Given the description of an element on the screen output the (x, y) to click on. 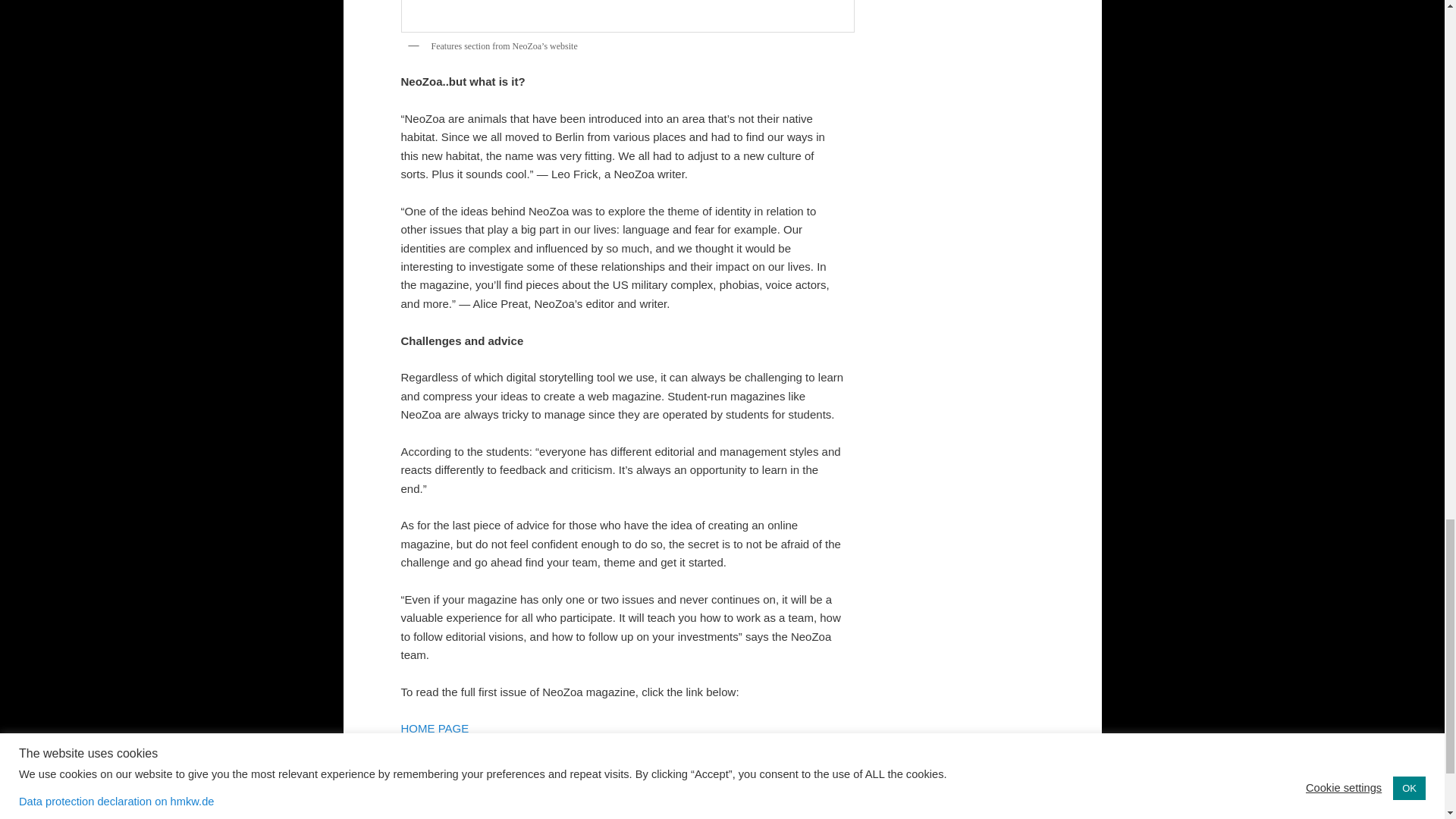
Leave a Reply (621, 770)
digitalmagazine (619, 763)
hmkw (672, 763)
neozoa (793, 763)
identity (706, 763)
Projects (483, 763)
HOME PAGE (434, 727)
Blog (451, 763)
journalism (751, 763)
The Blog (526, 763)
